Given the description of an element on the screen output the (x, y) to click on. 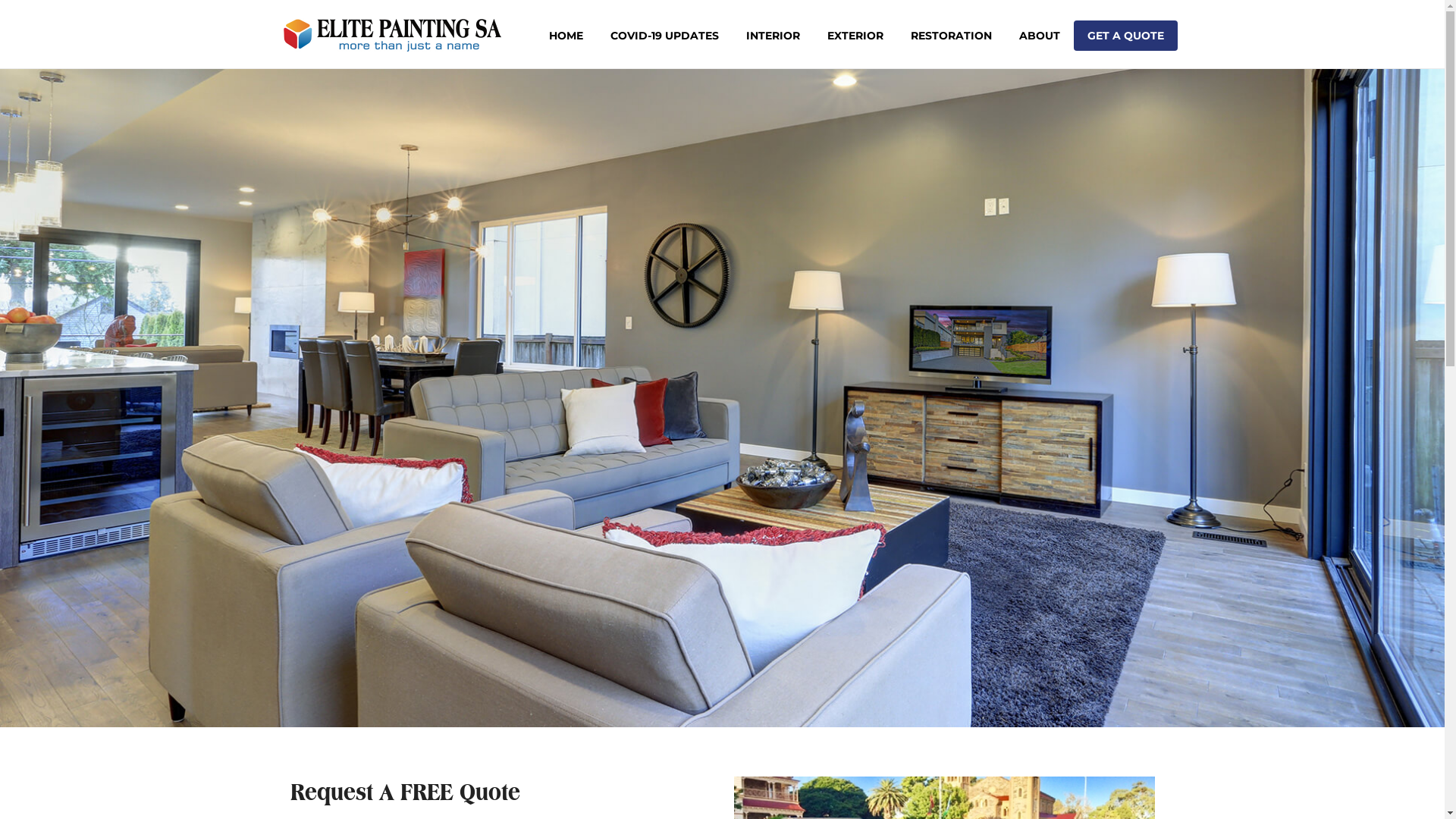
INTERIOR Element type: text (772, 34)
EXTERIOR Element type: text (854, 34)
RESTORATION Element type: text (950, 34)
ABOUT Element type: text (1039, 34)
COVID-19 UPDATES Element type: text (663, 34)
HOME Element type: text (565, 34)
GET A QUOTE Element type: text (1125, 34)
